Given the description of an element on the screen output the (x, y) to click on. 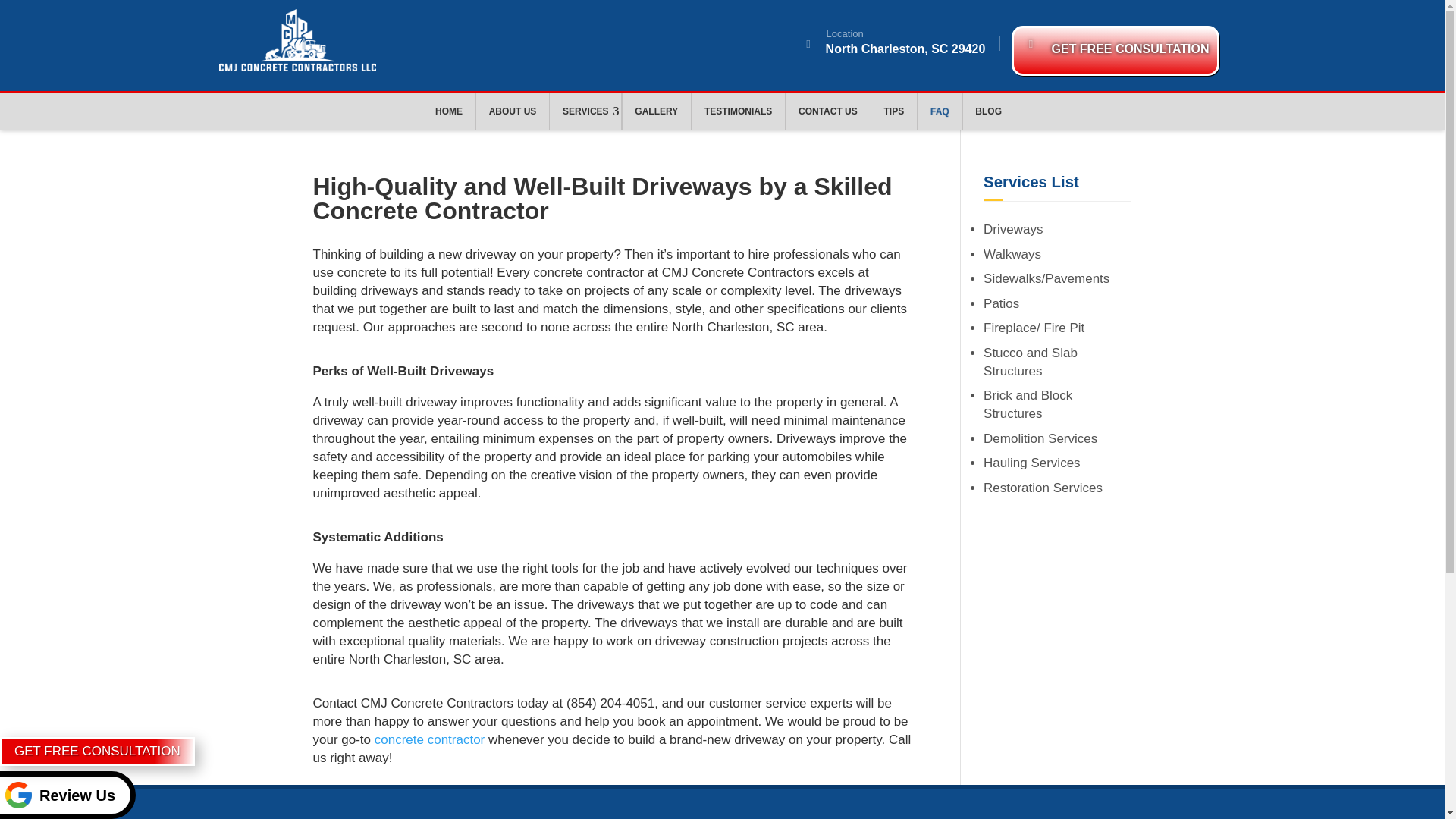
concrete contractor (429, 739)
GET FREE CONSULTATION (1114, 50)
TESTIMONIALS (737, 111)
SERVICES (585, 111)
ABOUT US (513, 111)
BLOG (988, 111)
Review Us (67, 795)
FAQ (938, 110)
TIPS (893, 111)
GET FREE CONSULTATION (97, 751)
CONTACT US (828, 111)
GALLERY (655, 111)
HOME (449, 111)
